Given the description of an element on the screen output the (x, y) to click on. 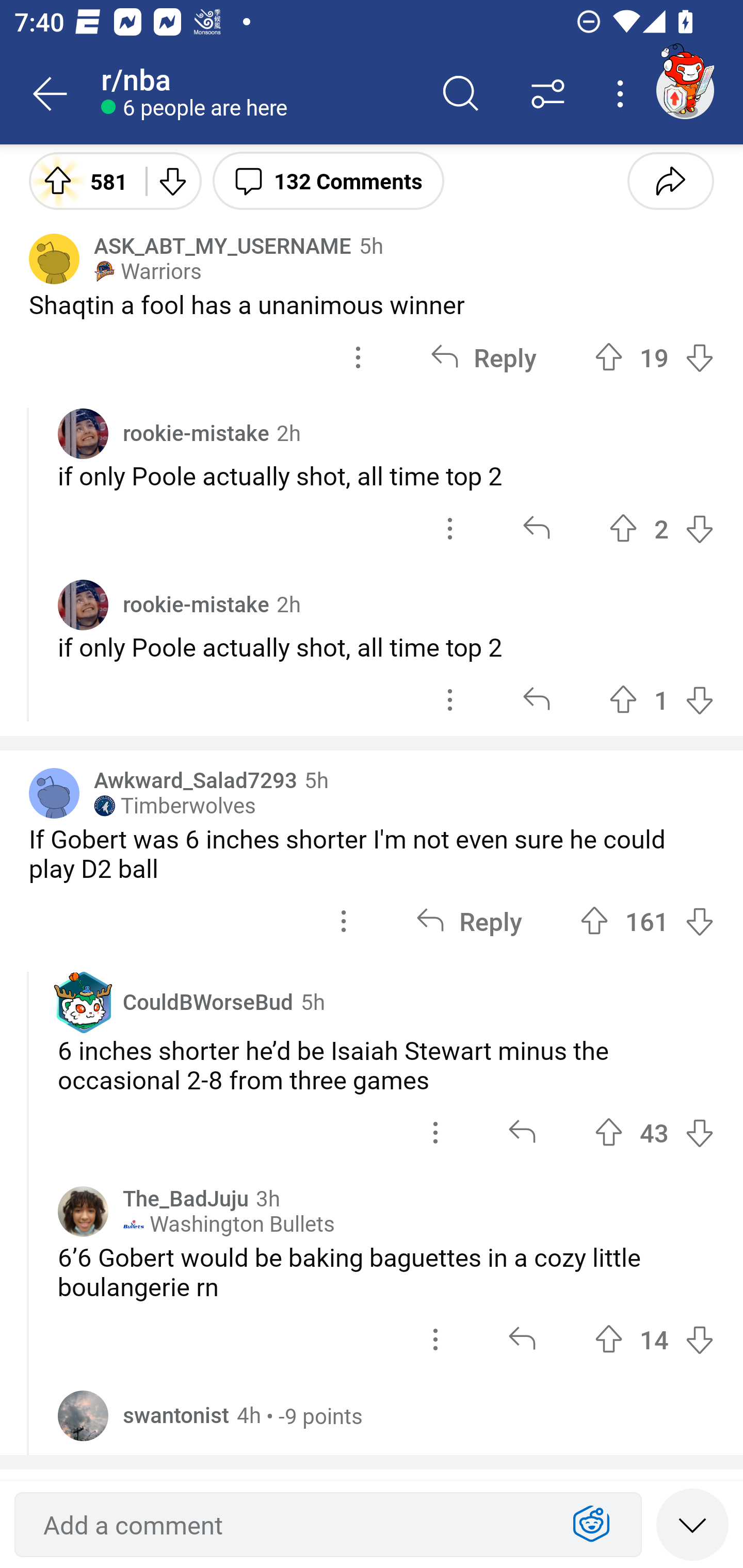
Back (50, 93)
TestAppium002 account (685, 90)
Search comments (460, 93)
Sort comments (547, 93)
More options (623, 93)
r/nba 6 people are here (259, 93)
Upvote 581 (79, 180)
Downvote (171, 180)
132 Comments (328, 180)
Share (670, 180)
Avatar (53, 258)
￼ Warriors (147, 270)
Shaqtin a fool has a unanimous winner (371, 303)
options (358, 357)
Reply (483, 357)
Upvote 19 19 votes Downvote (654, 357)
Avatar (82, 433)
if only Poole actually shot, all time top 2 (385, 474)
options (449, 528)
Upvote 2 2 votes Downvote (661, 528)
Avatar (82, 605)
if only Poole actually shot, all time top 2 (385, 646)
options (449, 699)
Upvote 1 1 vote Downvote (661, 699)
Avatar (53, 793)
￼ Timberwolves (174, 805)
options (343, 921)
Reply (469, 921)
Upvote 161 161 votes Downvote (647, 921)
options (435, 1132)
Upvote 43 43 votes Downvote (654, 1132)
Avatar (82, 1211)
￼ Washington Bullets (228, 1224)
options (435, 1339)
Upvote 14 14 votes Downvote (654, 1339)
Avatar (82, 1415)
Speed read (692, 1524)
Add a comment (291, 1524)
Show Expressions (590, 1524)
